Given the description of an element on the screen output the (x, y) to click on. 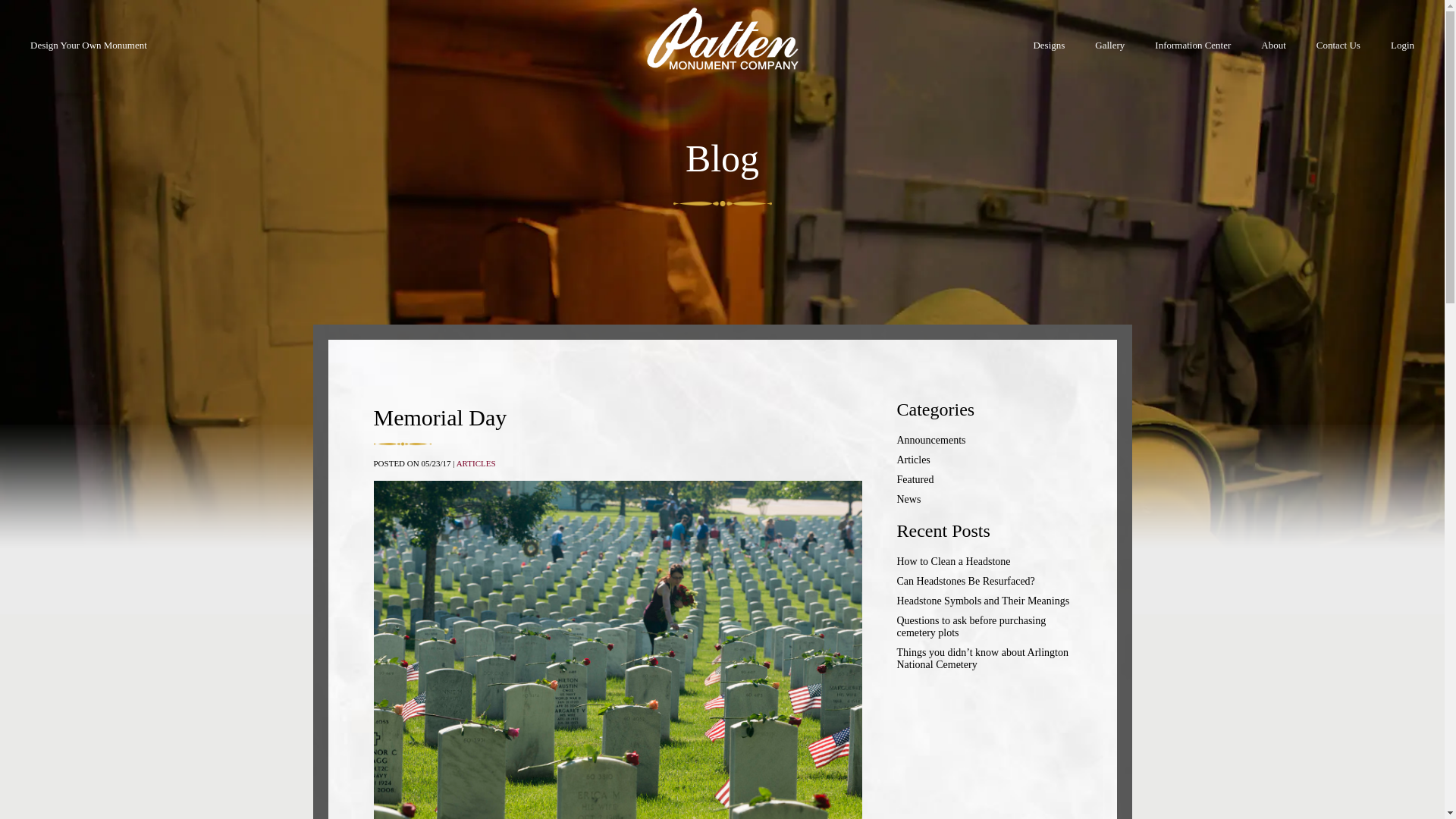
Designs (1048, 56)
Information Center (1193, 56)
About (1273, 56)
Contact Us (1338, 56)
Design Your Own Monument (88, 45)
Headstone Symbols and Their Meanings (983, 601)
Featured (983, 480)
How to Clean a Headstone (983, 562)
Announcements (983, 440)
Can Headstones Be Resurfaced? (983, 581)
